Given the description of an element on the screen output the (x, y) to click on. 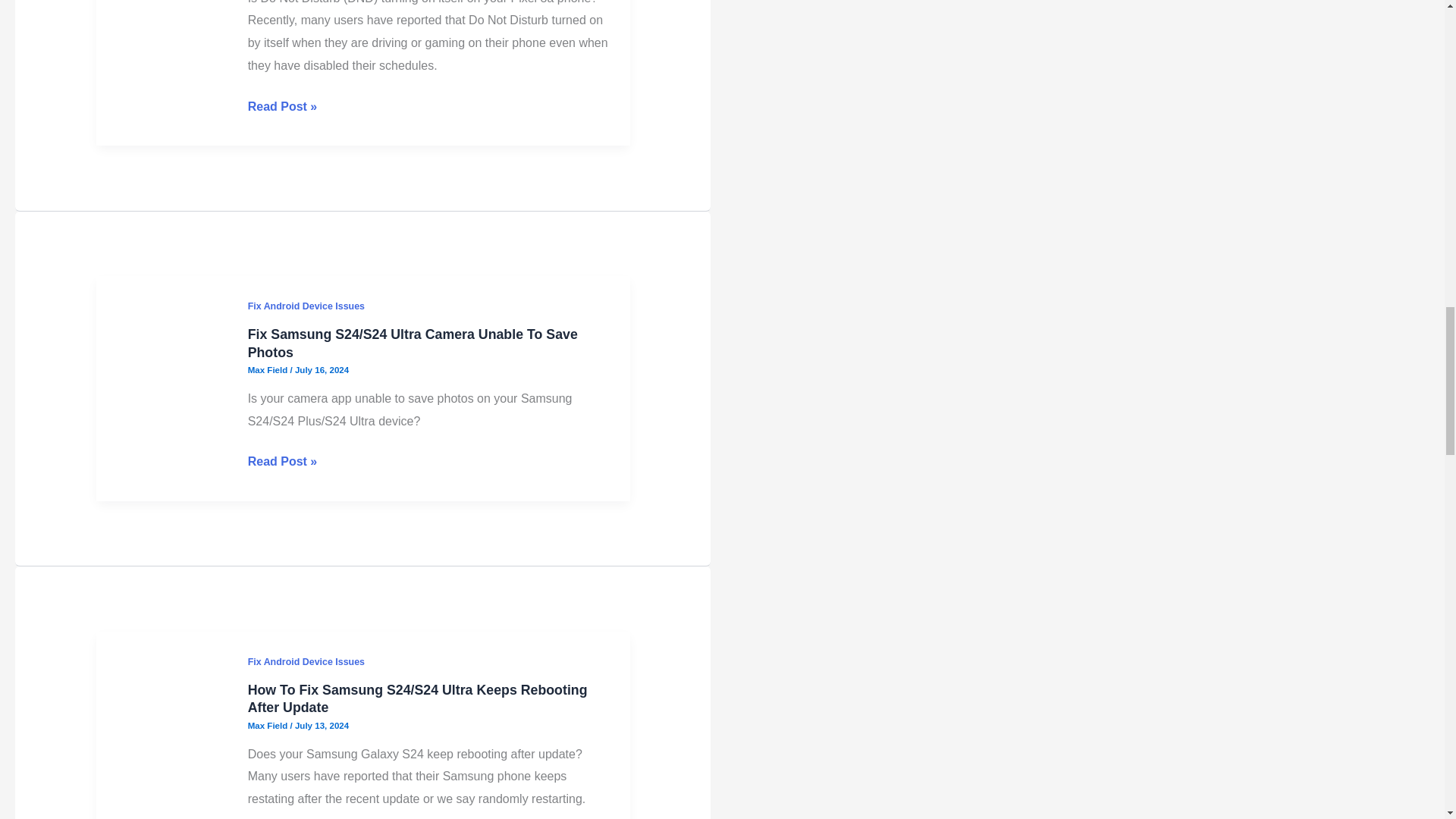
View all posts by Max Field (268, 662)
View all posts by Max Field (268, 56)
